Given the description of an element on the screen output the (x, y) to click on. 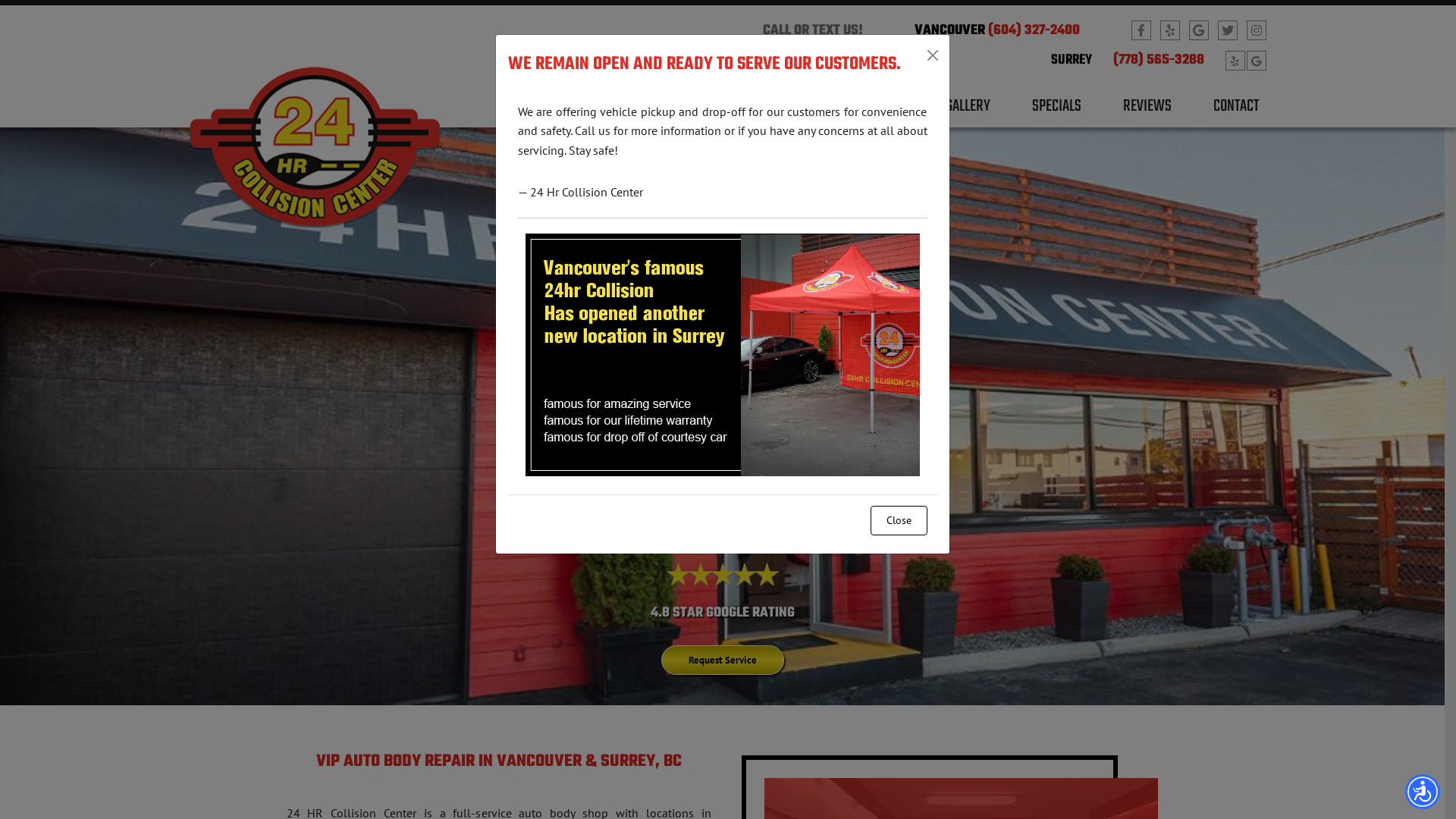
CONTACT Element type: text (1235, 111)
SPECIALS Element type: text (1056, 111)
(604) 327-2400 Element type: text (1033, 30)
ABOUT Element type: text (794, 111)
Request Service Element type: text (722, 659)
VANCOUVER Element type: text (949, 30)
GALLERY Element type: text (967, 111)
(778) 565-3288 Element type: text (1158, 60)
SERVICES Element type: text (878, 111)
REVIEWS Element type: text (1147, 111)
HOME Element type: text (720, 111)
